Given the description of an element on the screen output the (x, y) to click on. 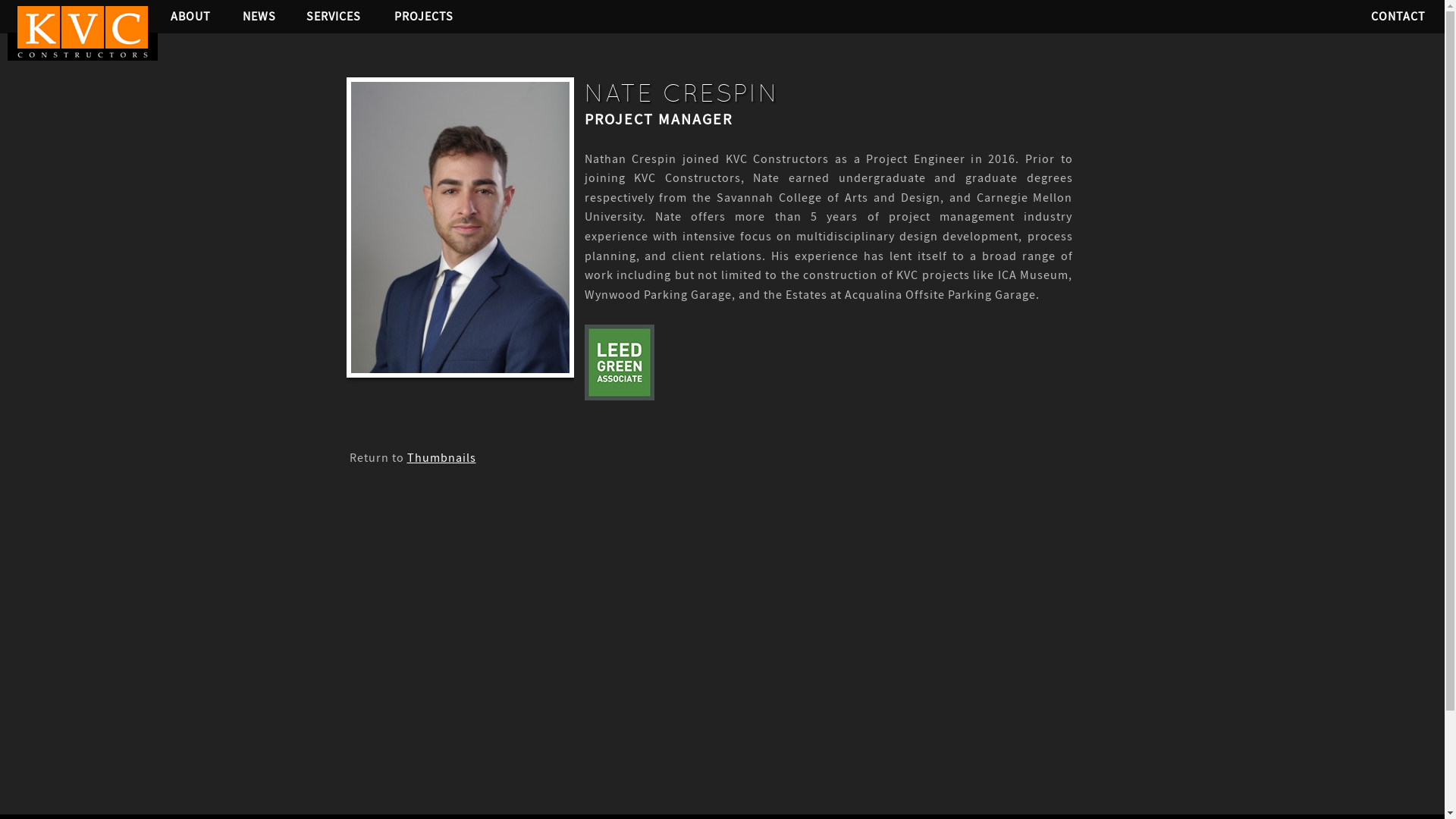
Thumbnails (441, 458)
NEWS (263, 16)
ABOUT (192, 16)
PROJECTS (429, 16)
SERVICES (338, 16)
CONTACT (1393, 16)
